Given the description of an element on the screen output the (x, y) to click on. 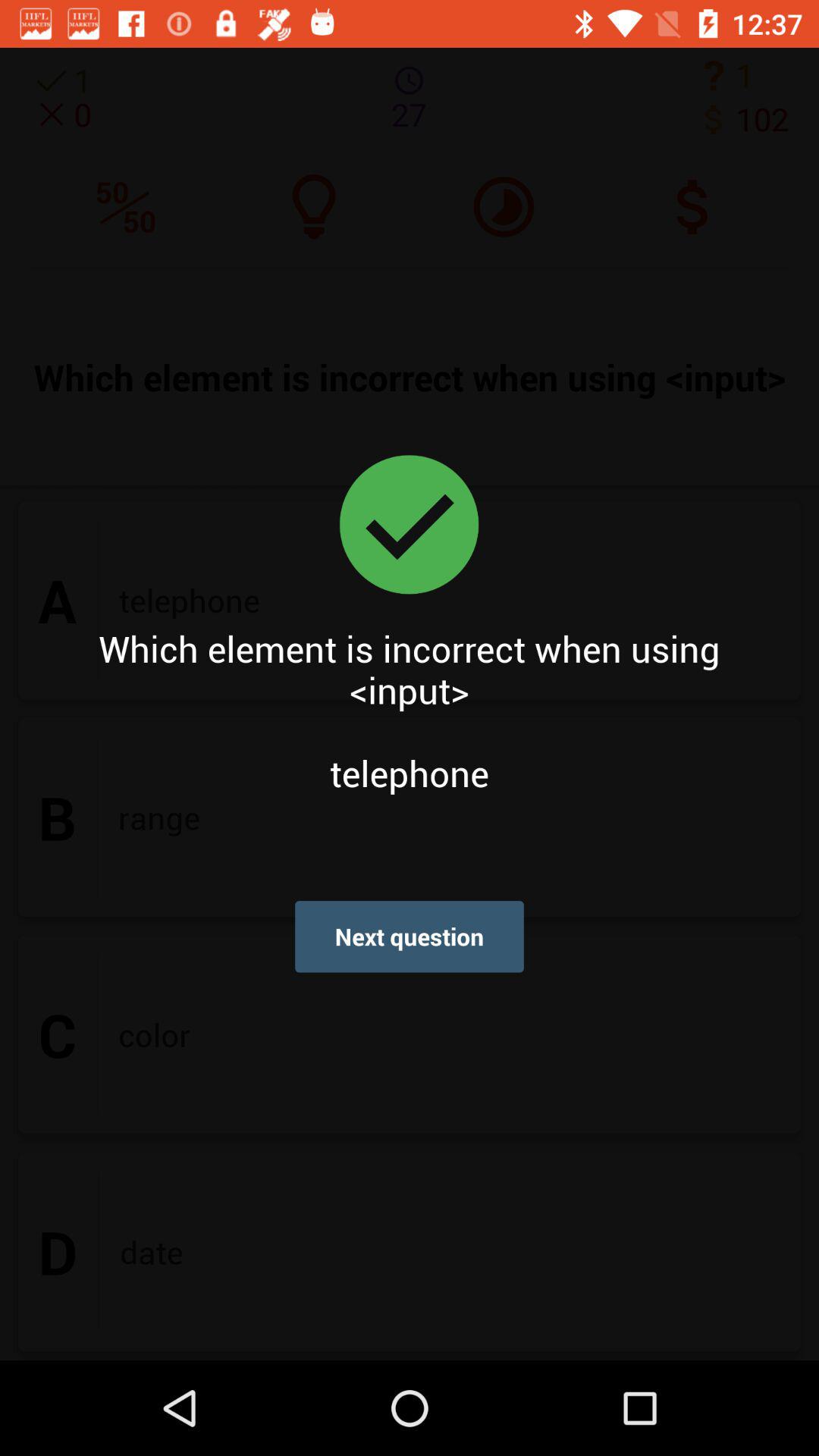
tap the next question (409, 936)
